Given the description of an element on the screen output the (x, y) to click on. 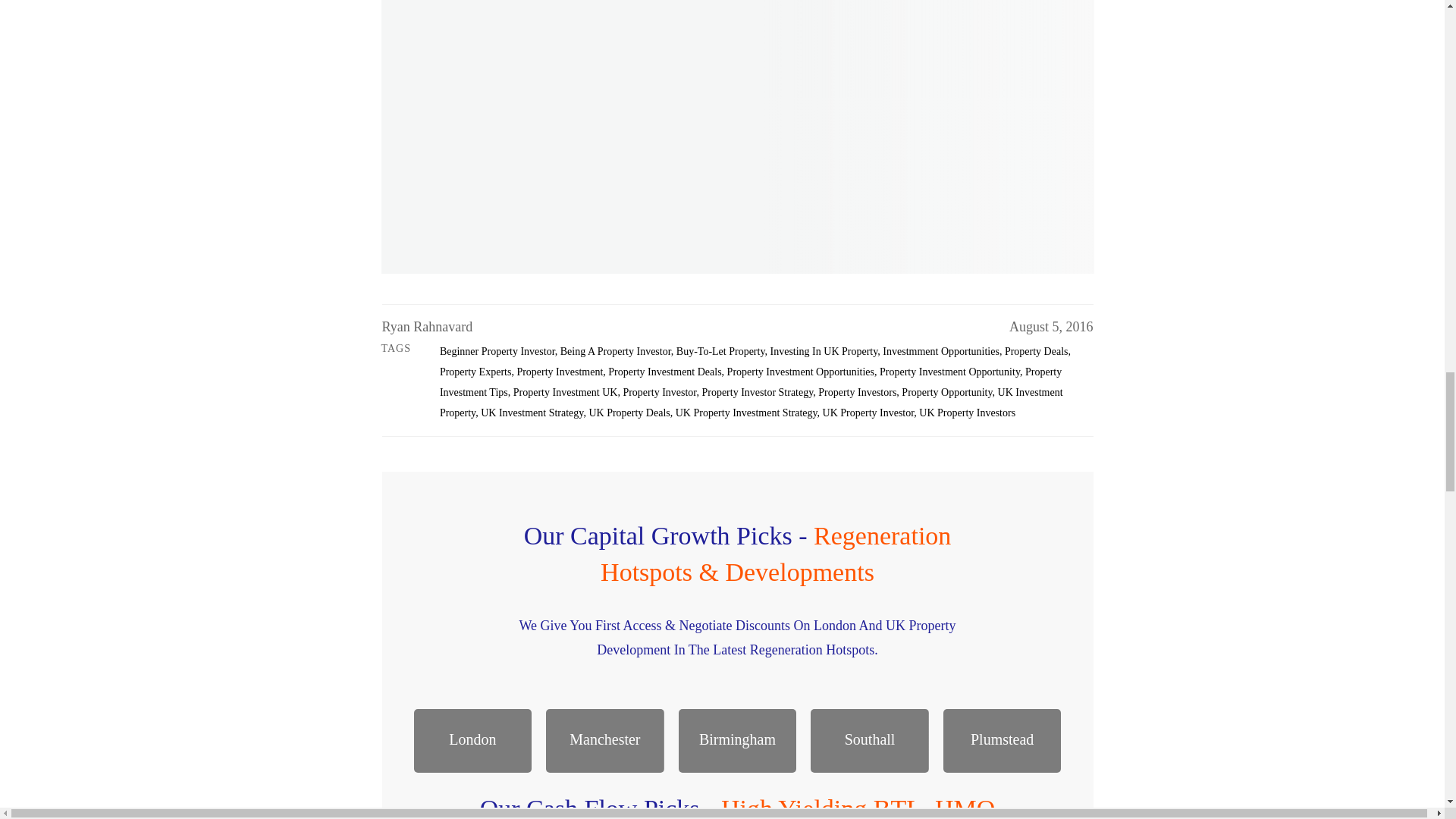
Property Deals (1036, 351)
Property Investment Opportunities (800, 371)
Being a Property Investor (615, 351)
Beginner Property Investor (496, 351)
Property Experts (475, 371)
Property Experts (475, 371)
Property Investment Deals (664, 371)
Property Investment Tips (750, 382)
Investing In UK Property (823, 351)
Property Investment Deals (664, 371)
